Given the description of an element on the screen output the (x, y) to click on. 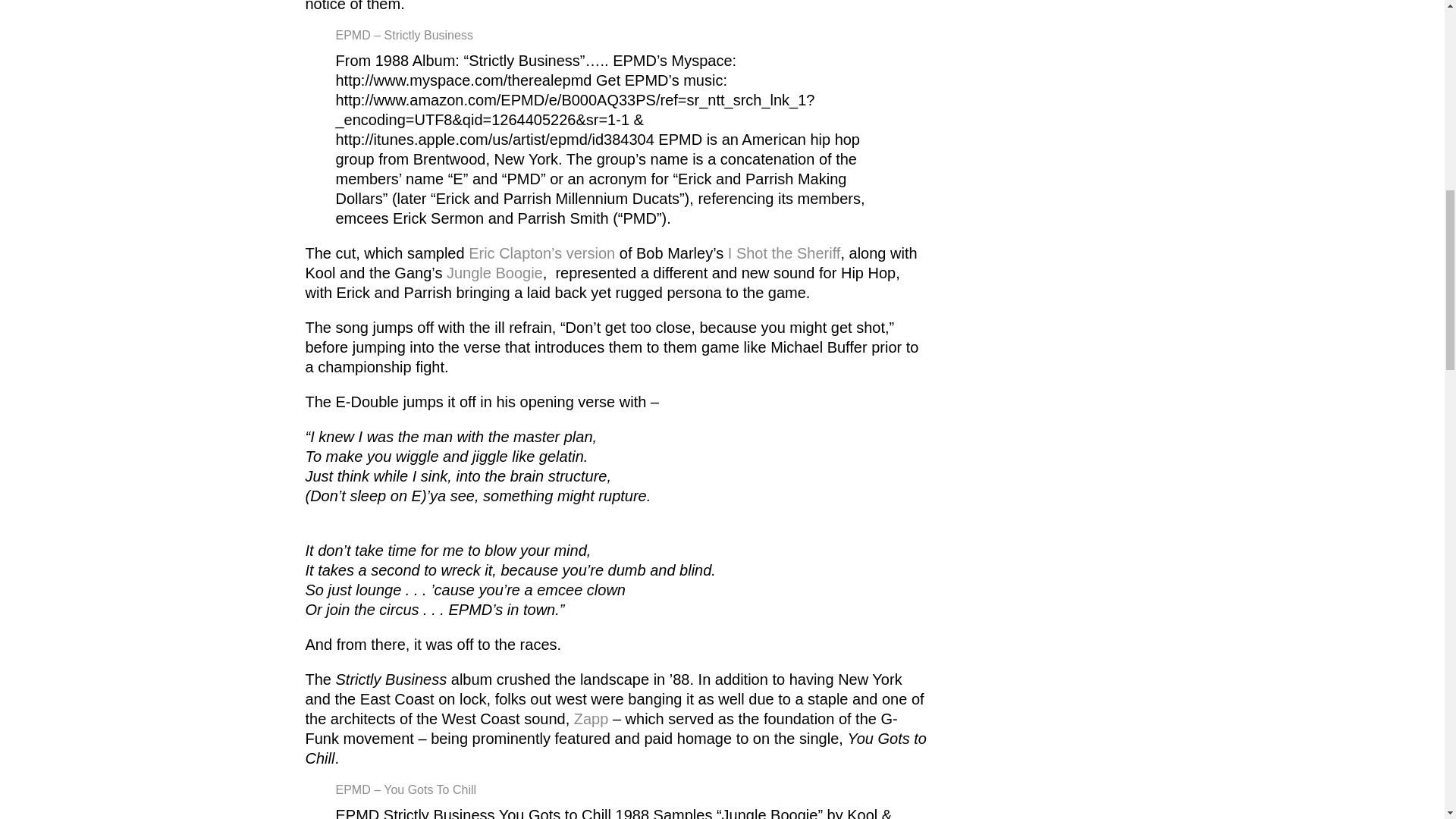
 I Shot the Sheriff (781, 252)
Jungle Boogie (494, 272)
